Given the description of an element on the screen output the (x, y) to click on. 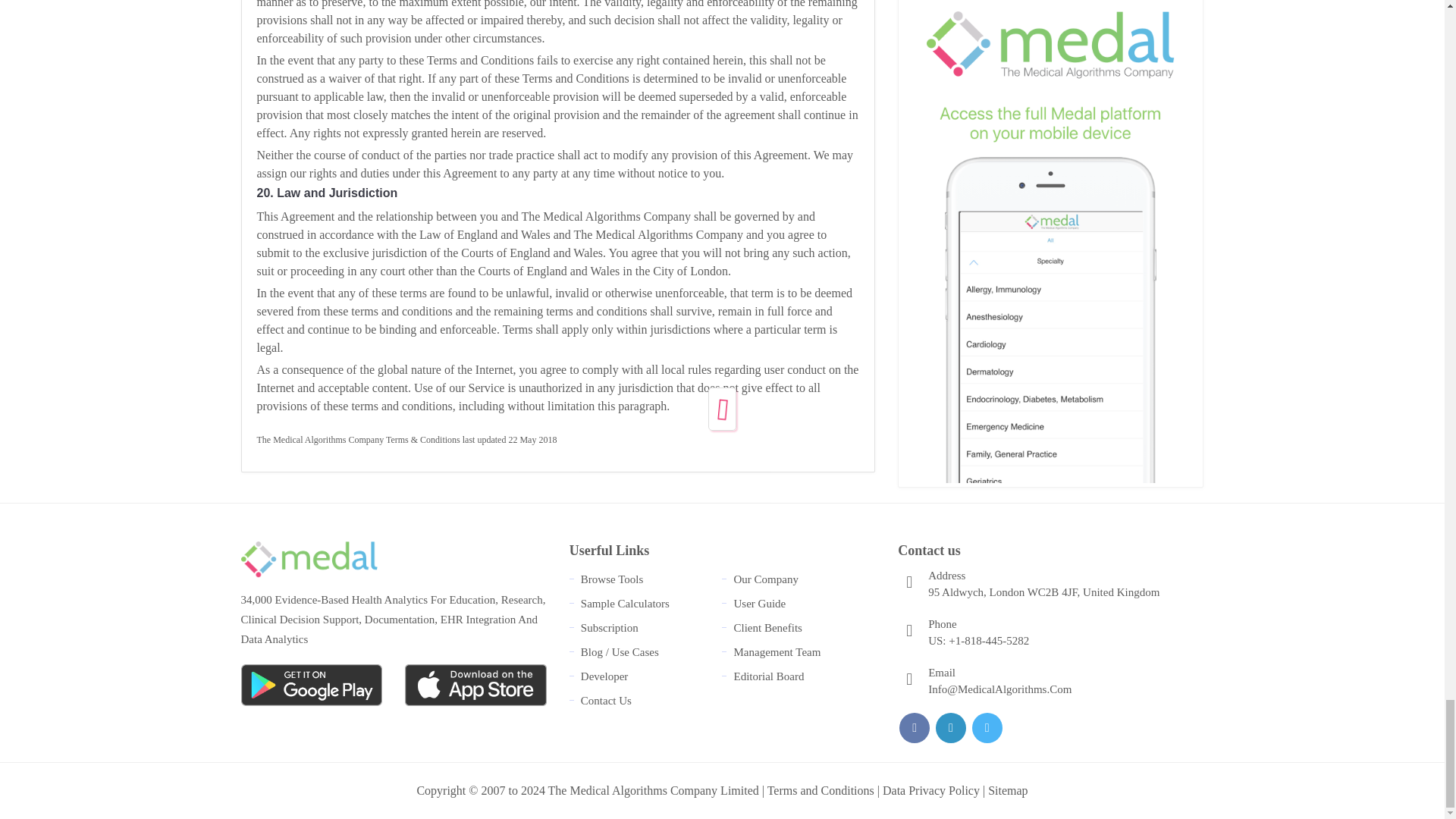
Management Team (777, 652)
Client Benefits (767, 627)
Sample Calculators (624, 603)
Browse Tools (611, 579)
Our Company (765, 579)
User Guide (759, 603)
Subscription (609, 627)
